Given the description of an element on the screen output the (x, y) to click on. 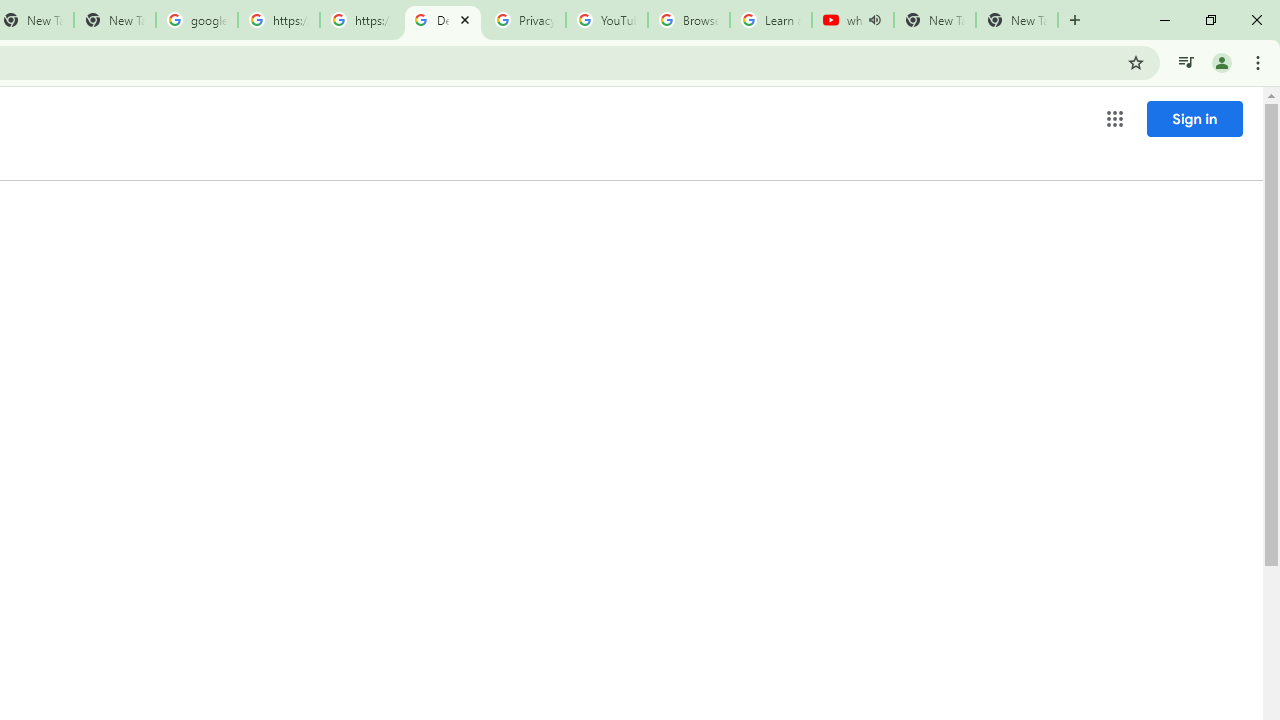
https://scholar.google.com/ (278, 20)
https://scholar.google.com/ (360, 20)
